Given the description of an element on the screen output the (x, y) to click on. 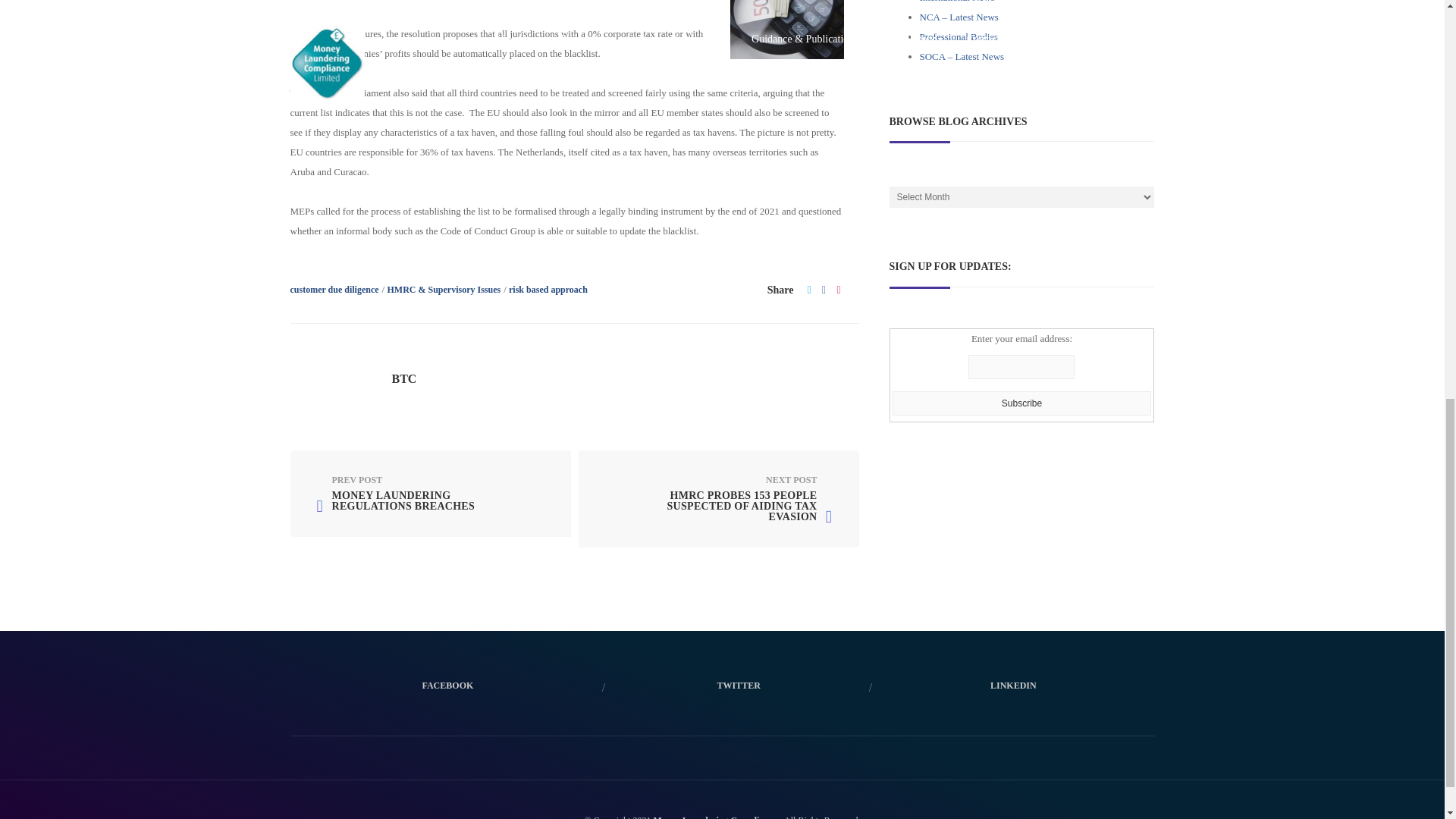
Subscribe (1021, 403)
